Given the description of an element on the screen output the (x, y) to click on. 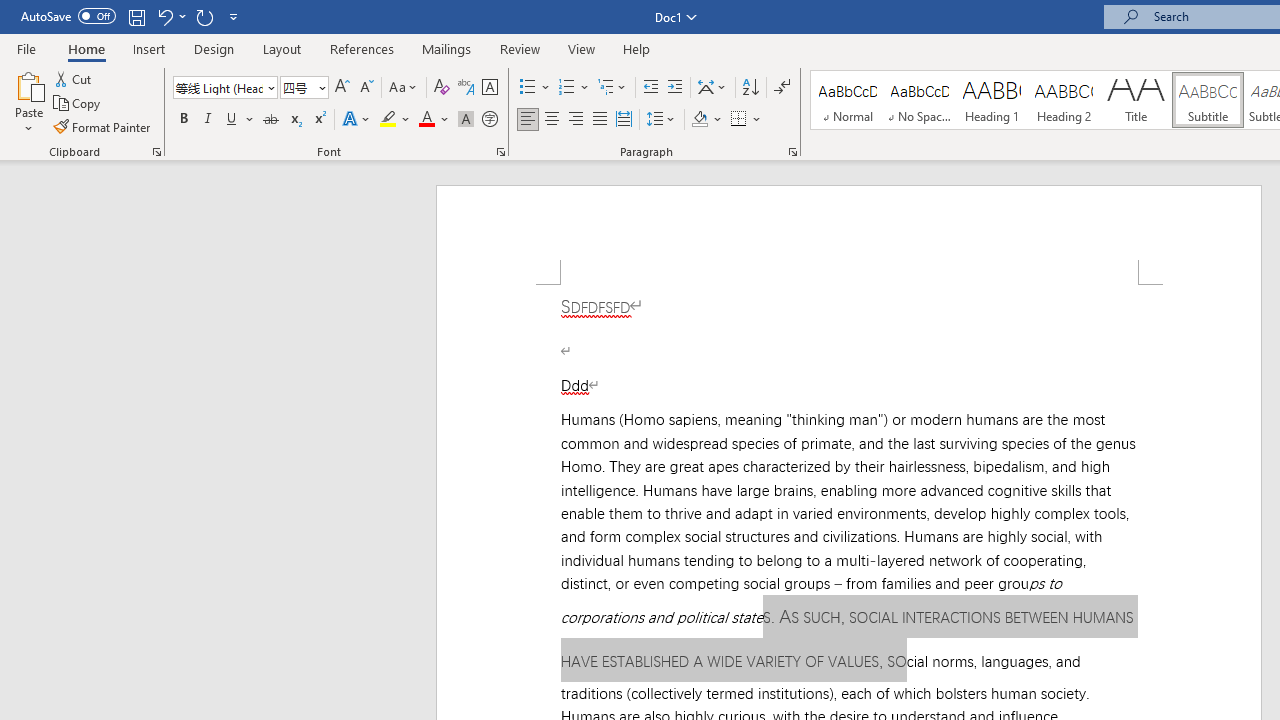
Superscript (319, 119)
Text Effects and Typography (357, 119)
Justify (599, 119)
System (10, 11)
Repeat Style (204, 15)
Open (320, 87)
Align Left (527, 119)
Text Highlight Color Yellow (388, 119)
Insert (149, 48)
Text Highlight Color (395, 119)
Align Right (575, 119)
System (10, 11)
Multilevel List (613, 87)
Paste (28, 84)
Font Size (304, 87)
